Given the description of an element on the screen output the (x, y) to click on. 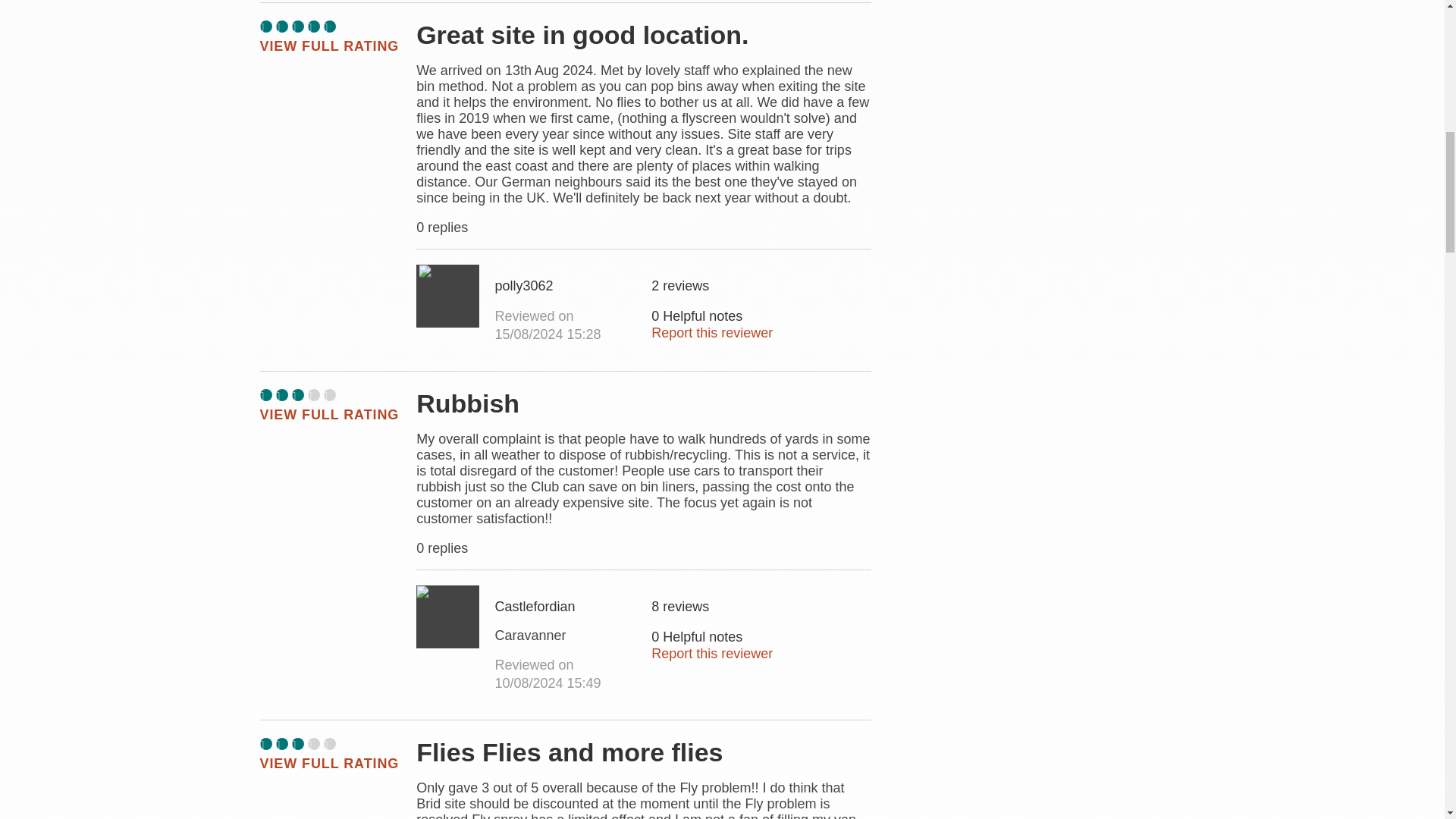
Report this reviewer (711, 653)
View polly3062 profile (565, 285)
View Castlefordian profile (447, 616)
View Castlefordian's profile (565, 635)
View Castlefordian profile (565, 606)
Report this reviewer (711, 332)
View polly3062 profile (447, 295)
